Given the description of an element on the screen output the (x, y) to click on. 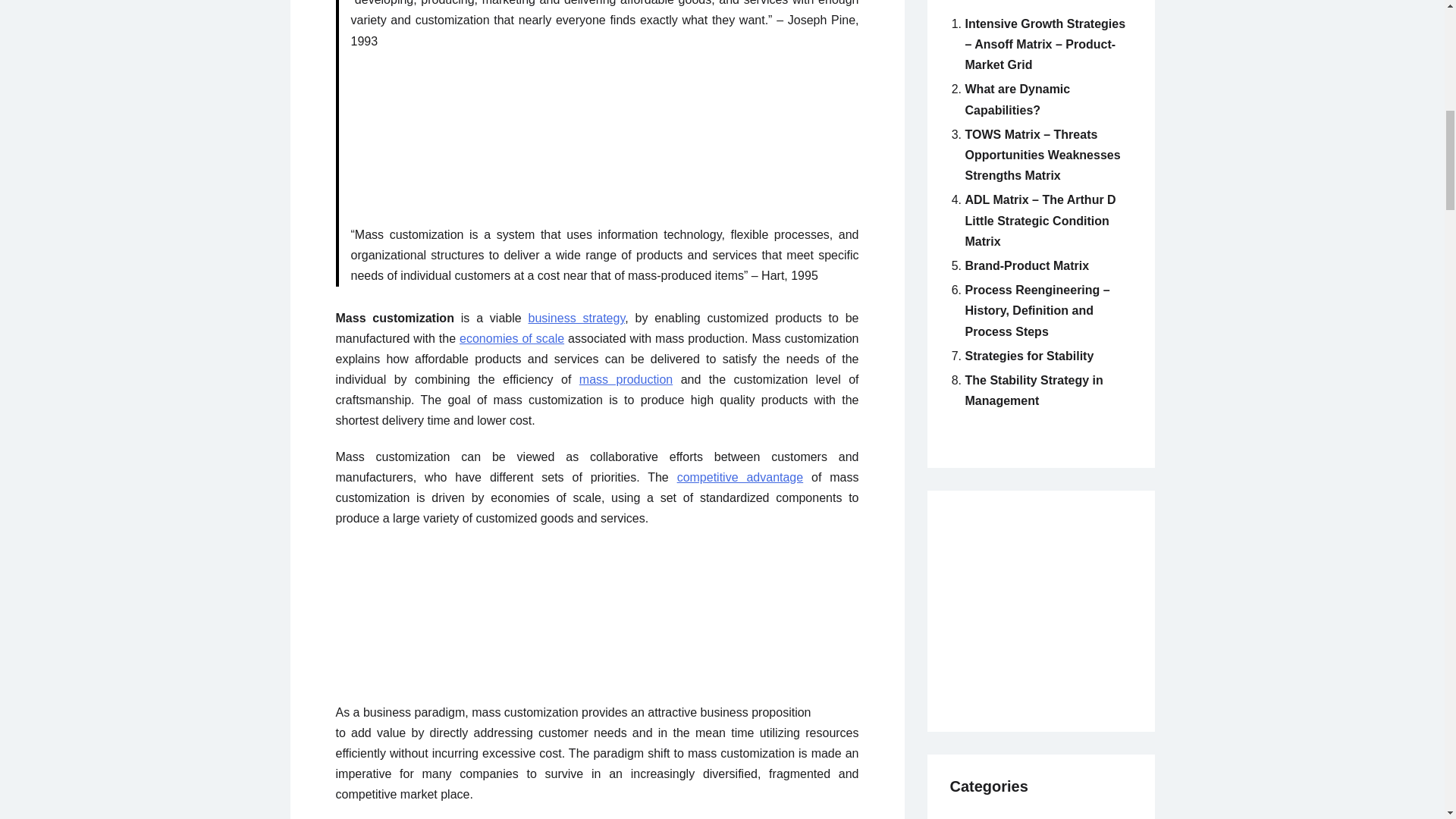
Competitive Advantage (740, 477)
business strategy (577, 318)
mass production (625, 379)
Economies and Diseconomies of Scale (512, 338)
Mass Production Systems (625, 379)
economies of scale (512, 338)
competitive advantage (740, 477)
